Given the description of an element on the screen output the (x, y) to click on. 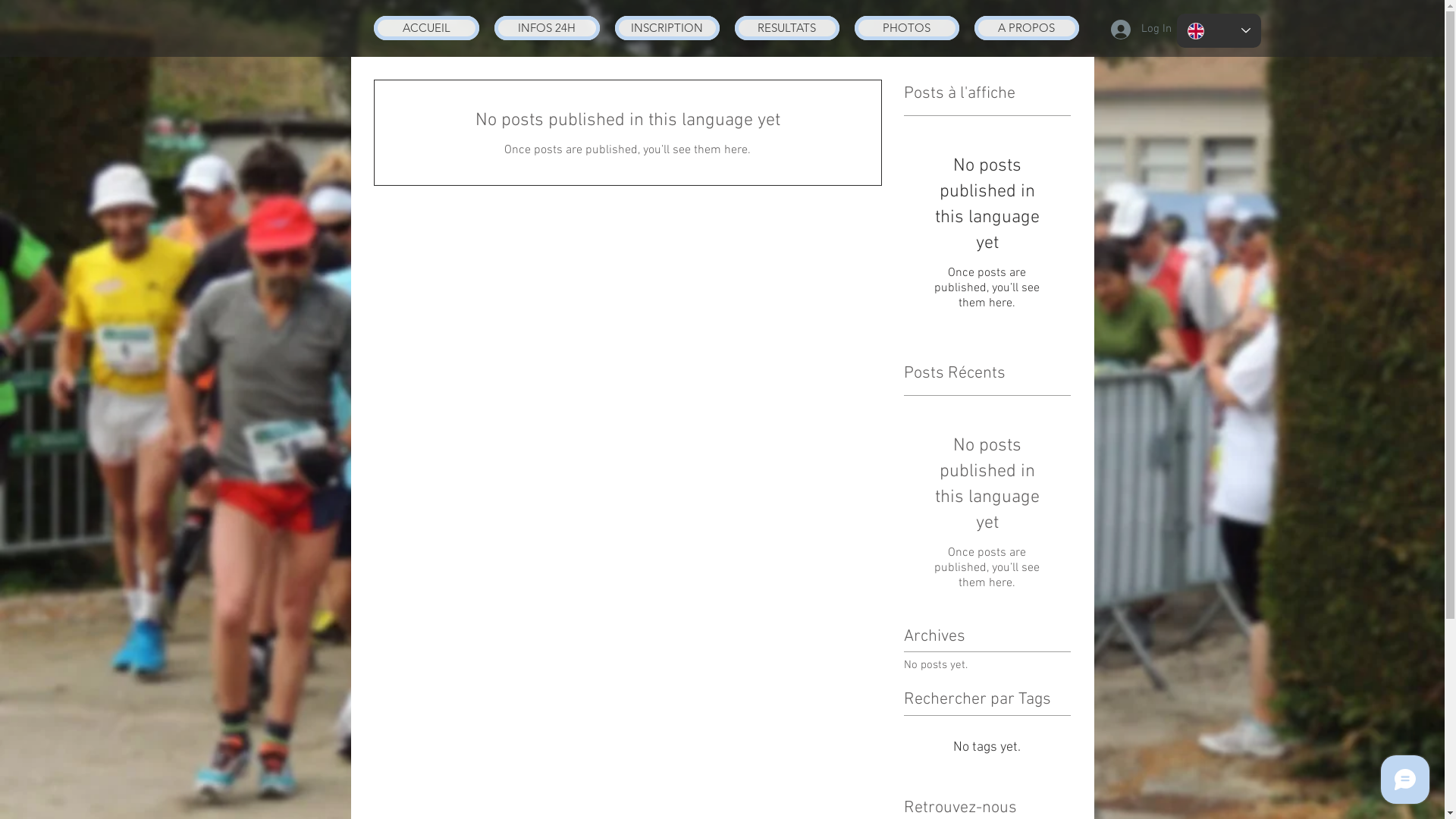
Log In Element type: text (1130, 29)
ACCUEIL Element type: text (425, 27)
